Given the description of an element on the screen output the (x, y) to click on. 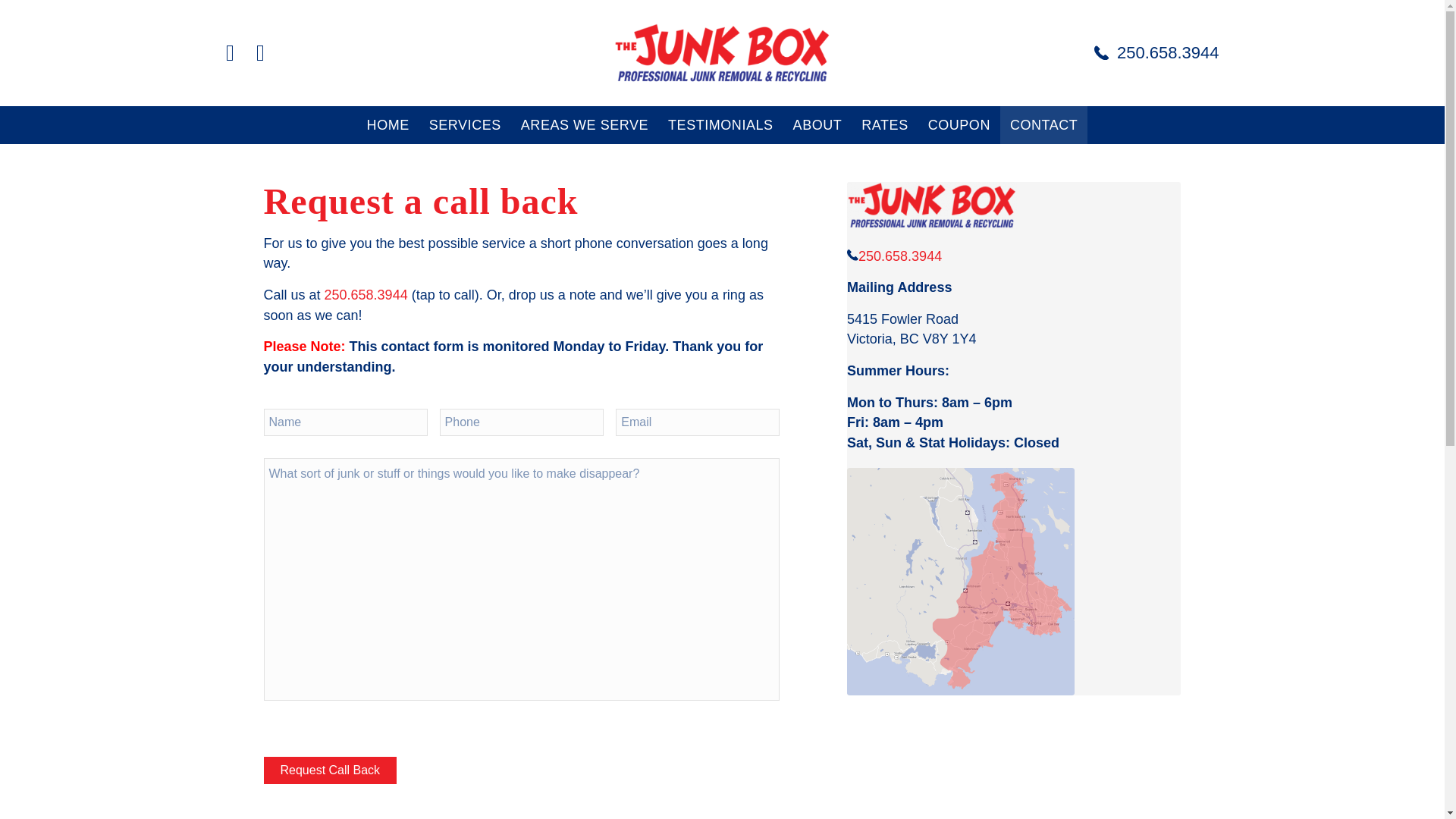
map-south-vancouver-island-regions-v3 (960, 581)
250.658.3944 (1157, 53)
TESTIMONIALS (720, 125)
RATES (884, 125)
ABOUT (817, 125)
SERVICES (465, 125)
Instagram (259, 52)
CONTACT (1043, 125)
Request Call Back (330, 769)
AREAS WE SERVE (584, 125)
